Given the description of an element on the screen output the (x, y) to click on. 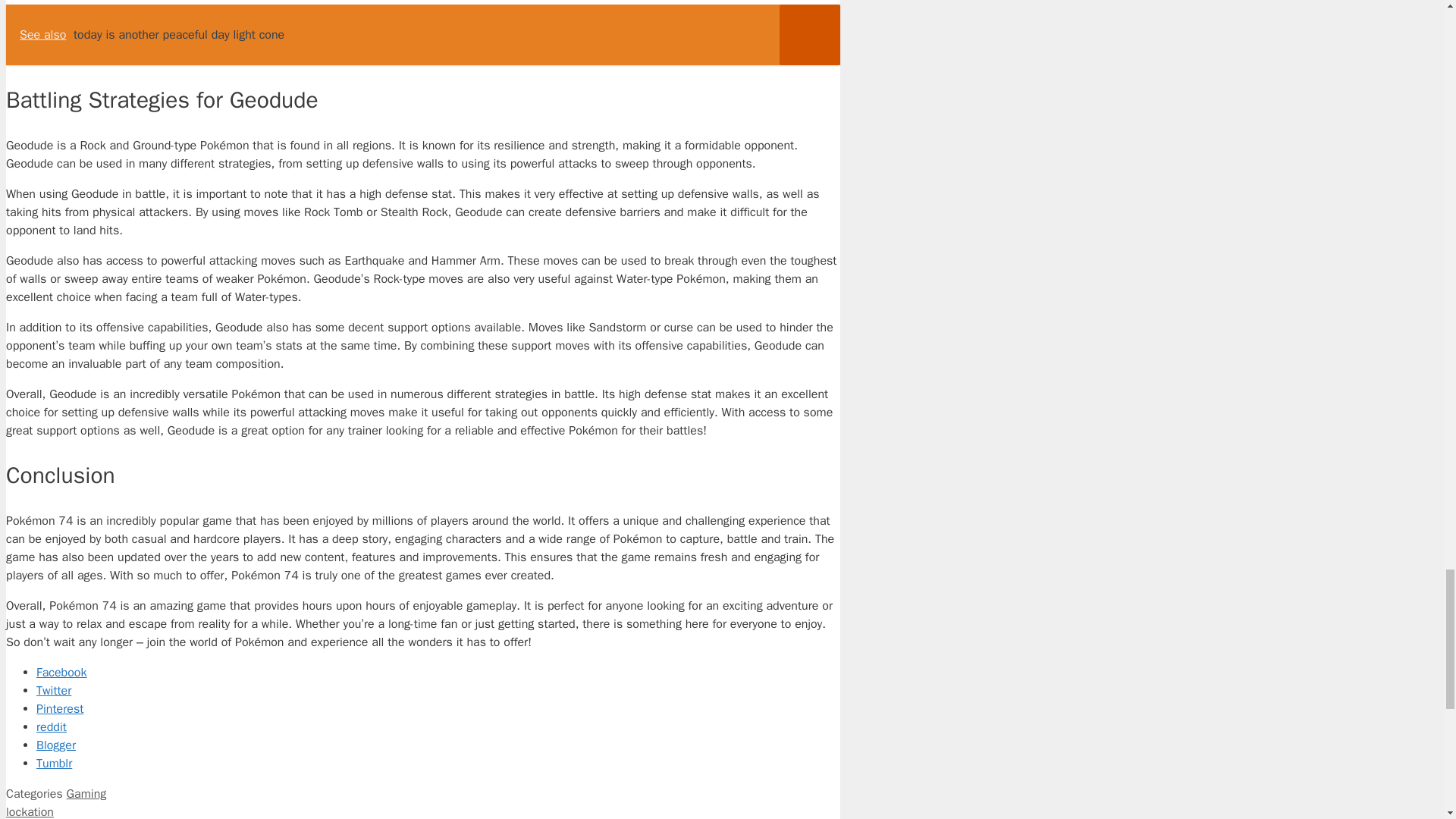
Tumblr (438, 763)
Blogger (438, 745)
Twitter (438, 690)
Pinterest (438, 709)
Facebook (438, 672)
See also  today is another peaceful day light cone (422, 34)
reddit (438, 727)
